Given the description of an element on the screen output the (x, y) to click on. 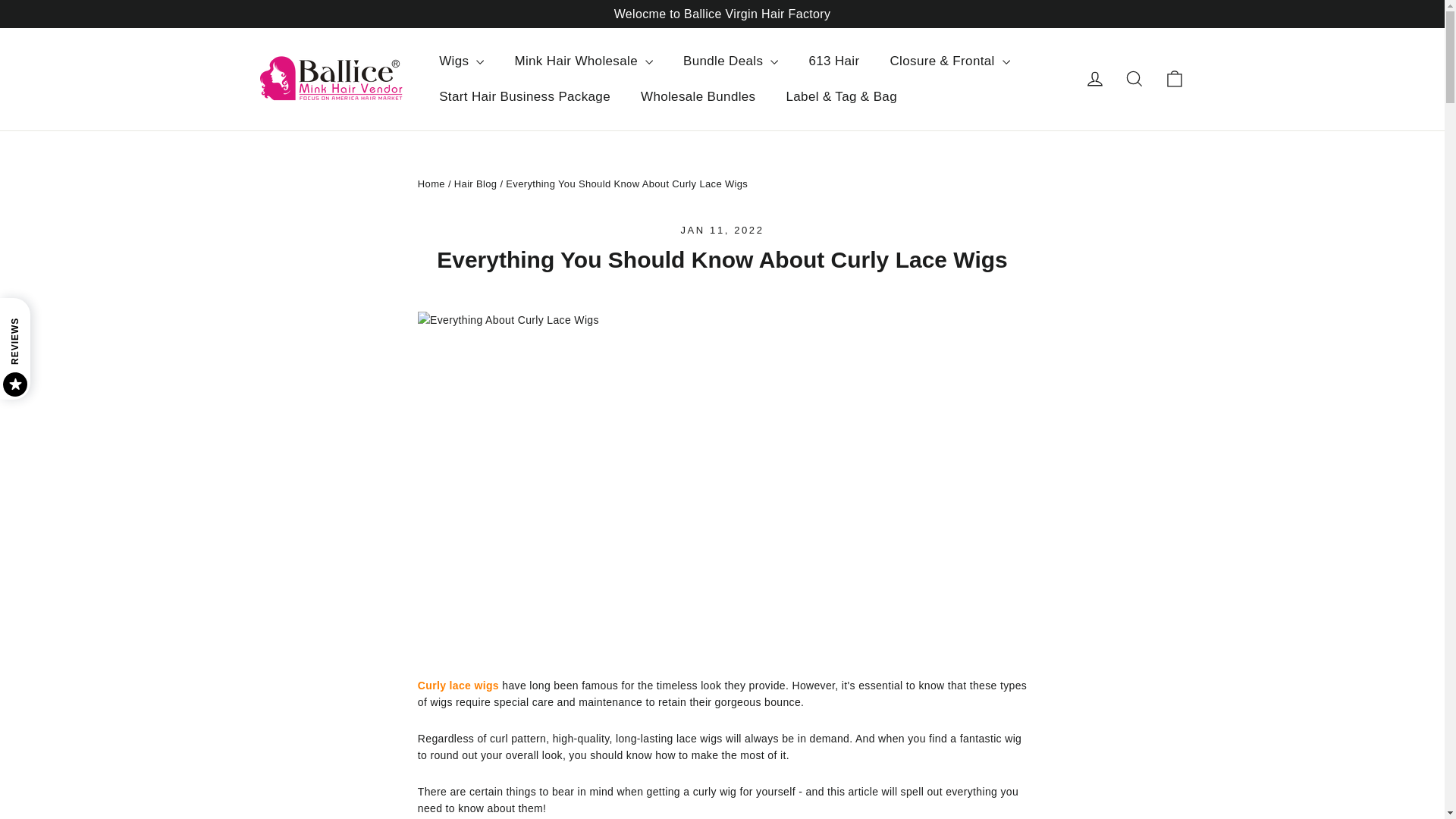
Back to the frontpage (431, 183)
Wigs (461, 60)
